Given the description of an element on the screen output the (x, y) to click on. 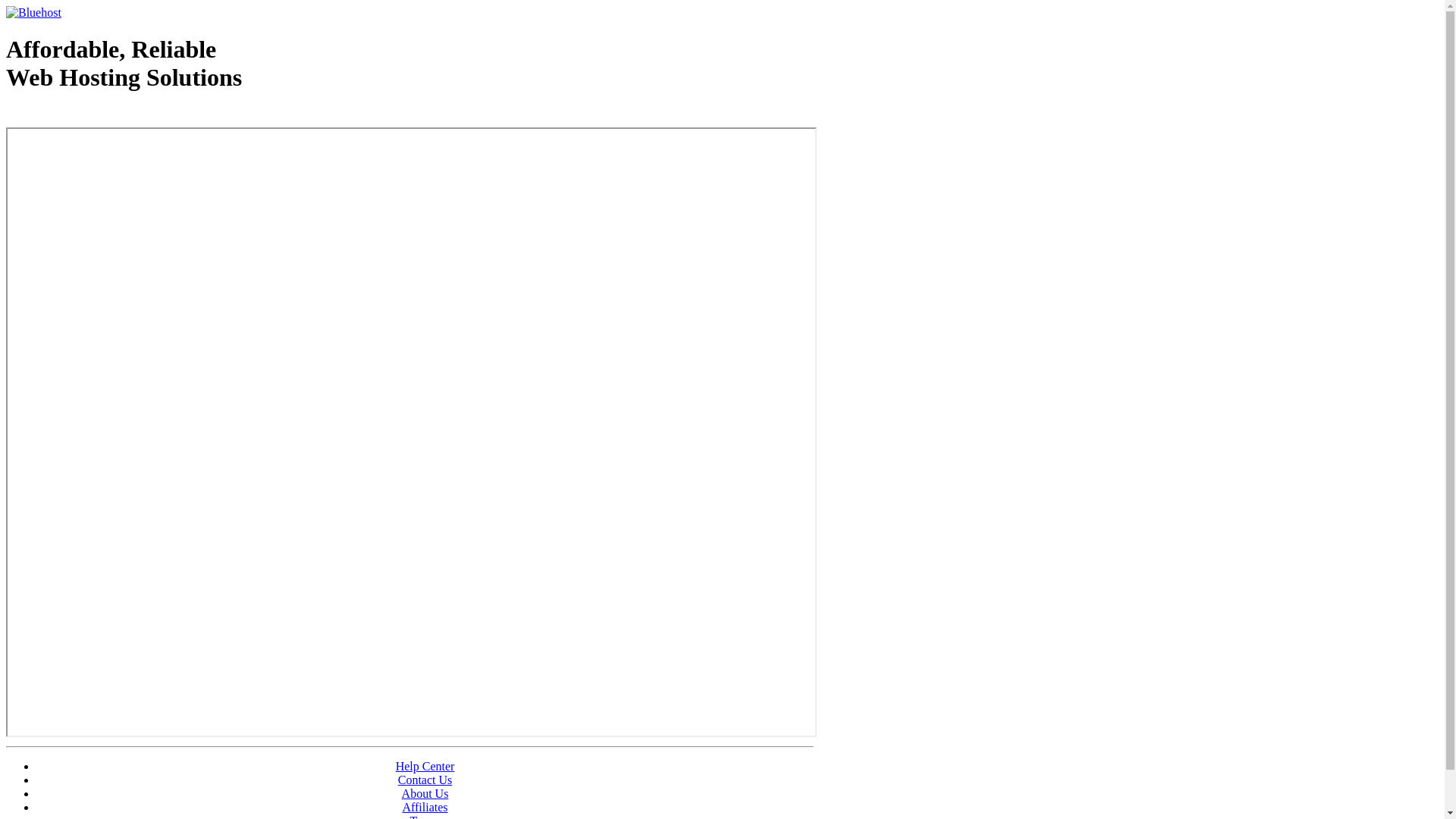
Help Center Element type: text (425, 765)
Contact Us Element type: text (425, 779)
Affiliates Element type: text (424, 806)
About Us Element type: text (424, 793)
Web Hosting - courtesy of www.bluehost.com Element type: text (94, 115)
